Given the description of an element on the screen output the (x, y) to click on. 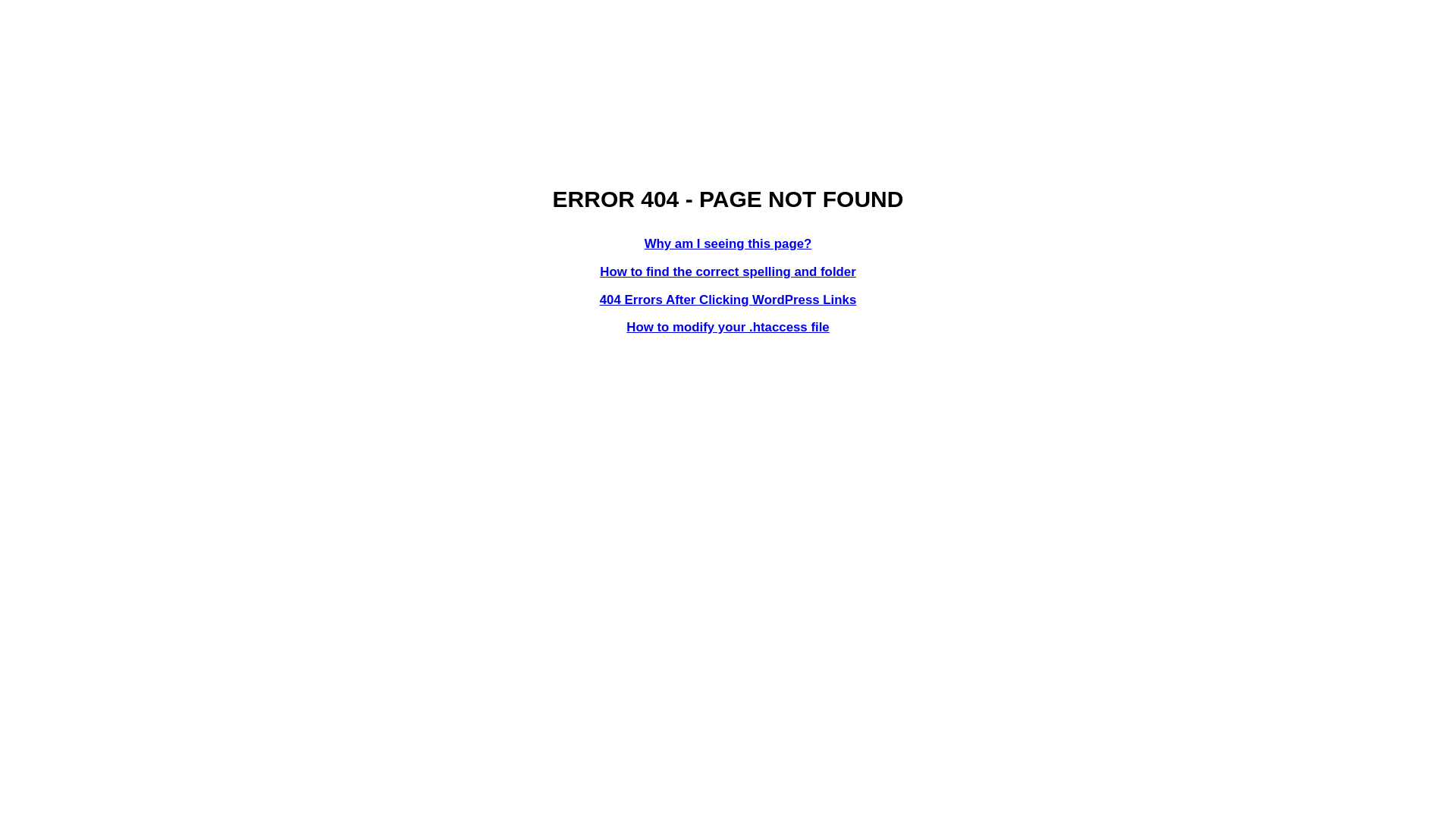
404 Errors After Clicking WordPress Links Element type: text (727, 299)
How to find the correct spelling and folder Element type: text (727, 271)
How to modify your .htaccess file Element type: text (727, 327)
Why am I seeing this page? Element type: text (728, 243)
